Given the description of an element on the screen output the (x, y) to click on. 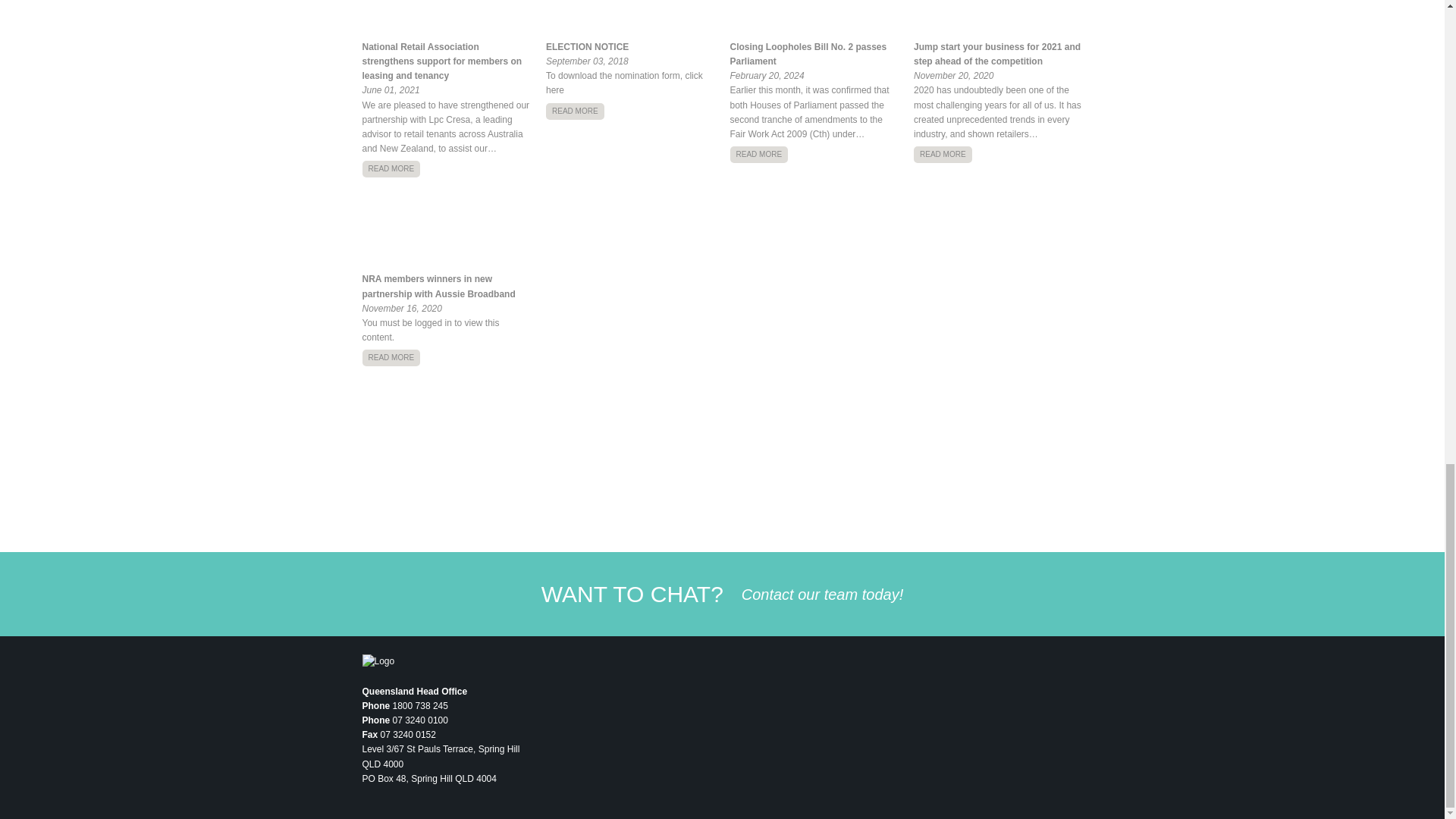
READ MORE (575, 111)
READ MORE (391, 168)
READ MORE (758, 154)
READ MORE (391, 357)
READ MORE (943, 154)
